Given the description of an element on the screen output the (x, y) to click on. 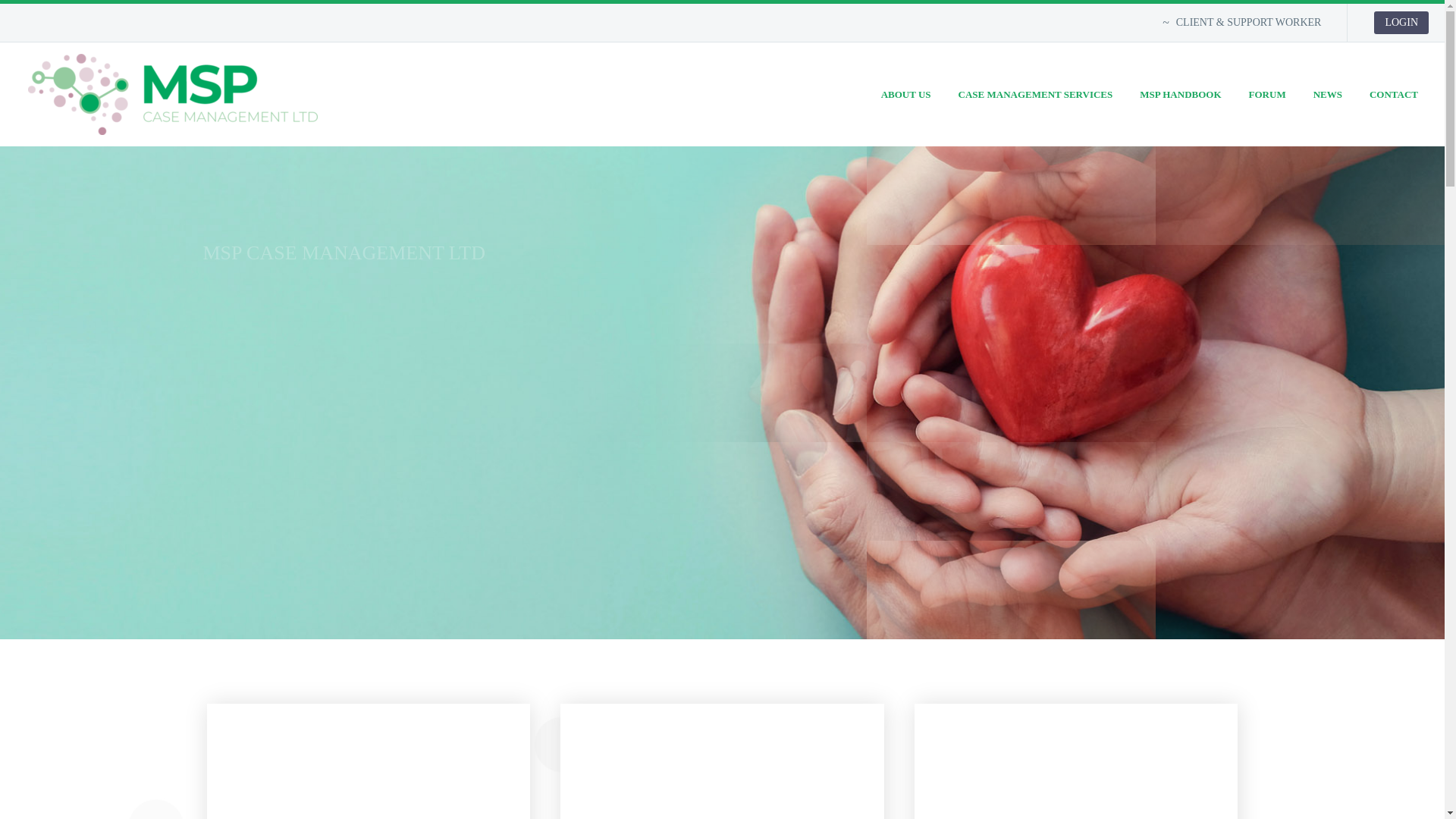
LOGIN (1401, 22)
NEWS (1327, 94)
ABOUT US (905, 94)
CASE MANAGEMENT SERVICES (1035, 94)
FORUM (1267, 94)
CONTACT (1393, 94)
MSP HANDBOOK (1179, 94)
